Given the description of an element on the screen output the (x, y) to click on. 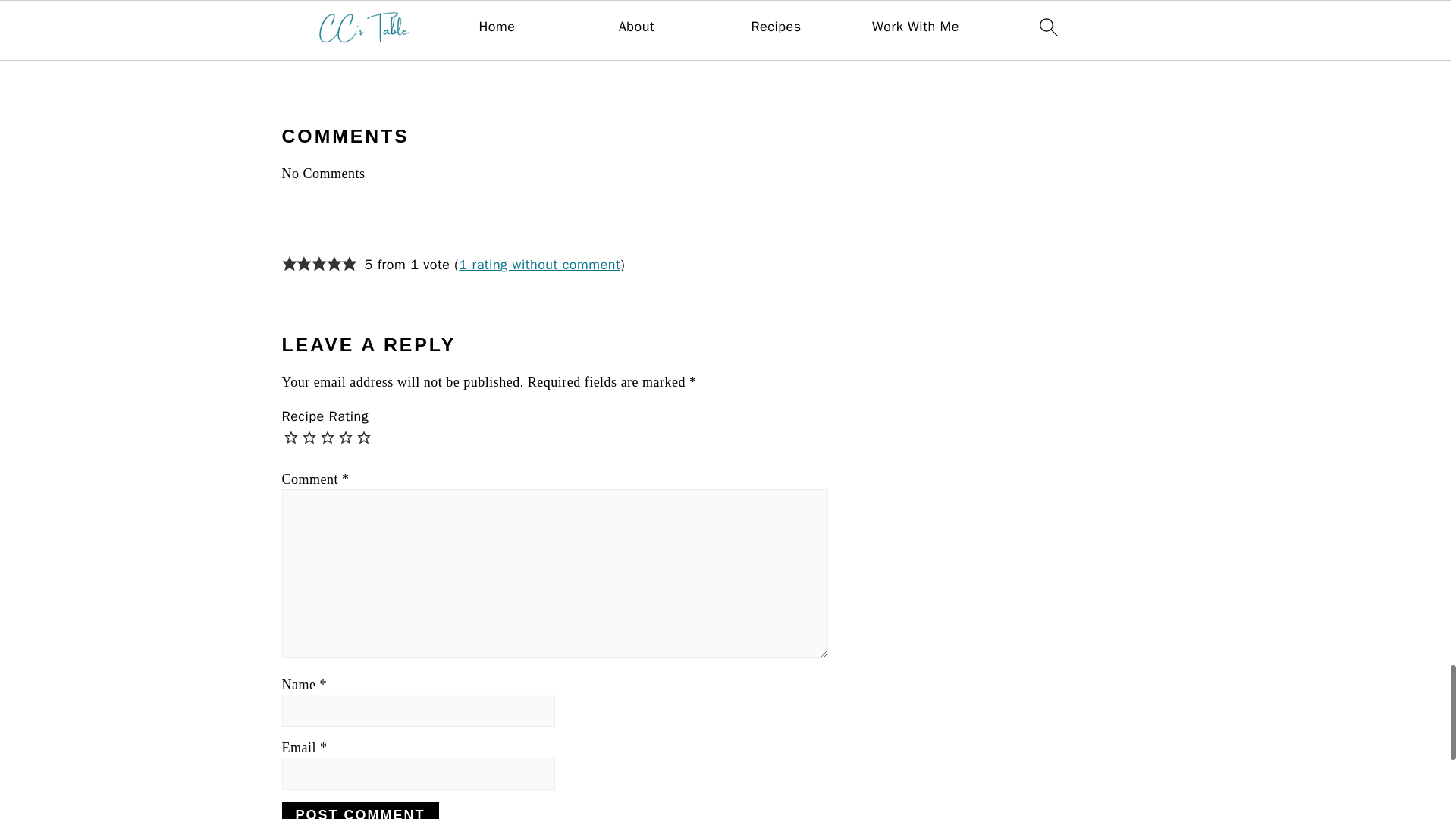
Post Comment (360, 810)
